Given the description of an element on the screen output the (x, y) to click on. 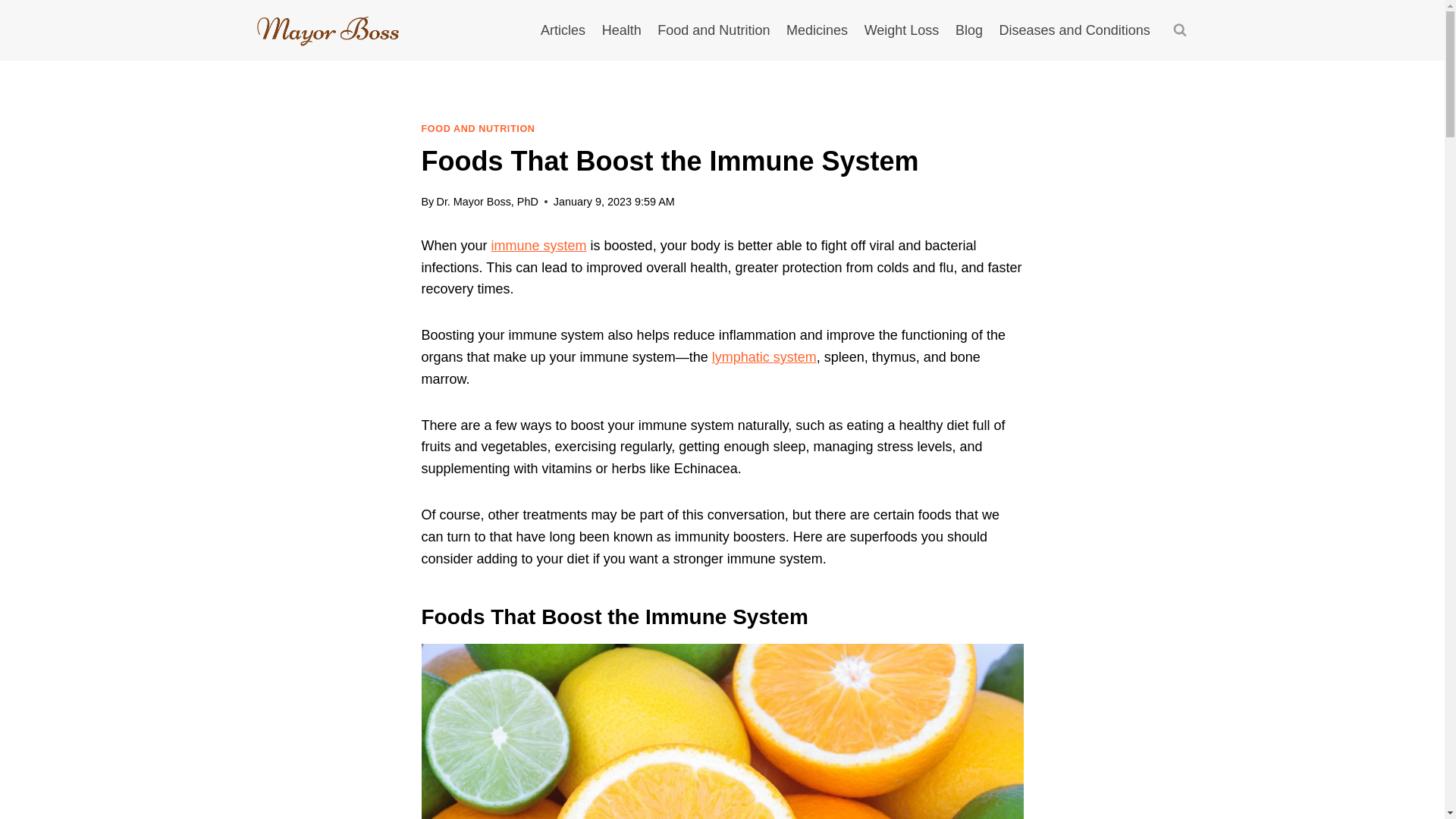
Articles (563, 30)
lymphatic system (763, 356)
Blog (969, 30)
Medicines (816, 30)
Dr. Mayor Boss, PhD (486, 201)
Weight Loss (901, 30)
Diseases and Conditions (1074, 30)
Health (621, 30)
FOOD AND NUTRITION (478, 128)
immune system (539, 245)
